Given the description of an element on the screen output the (x, y) to click on. 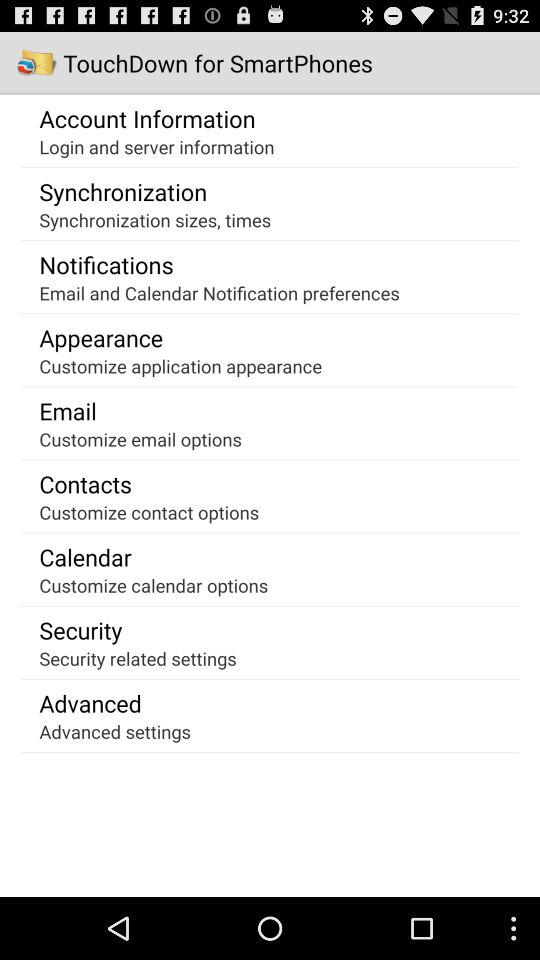
swipe to the synchronization sizes, times app (155, 219)
